Given the description of an element on the screen output the (x, y) to click on. 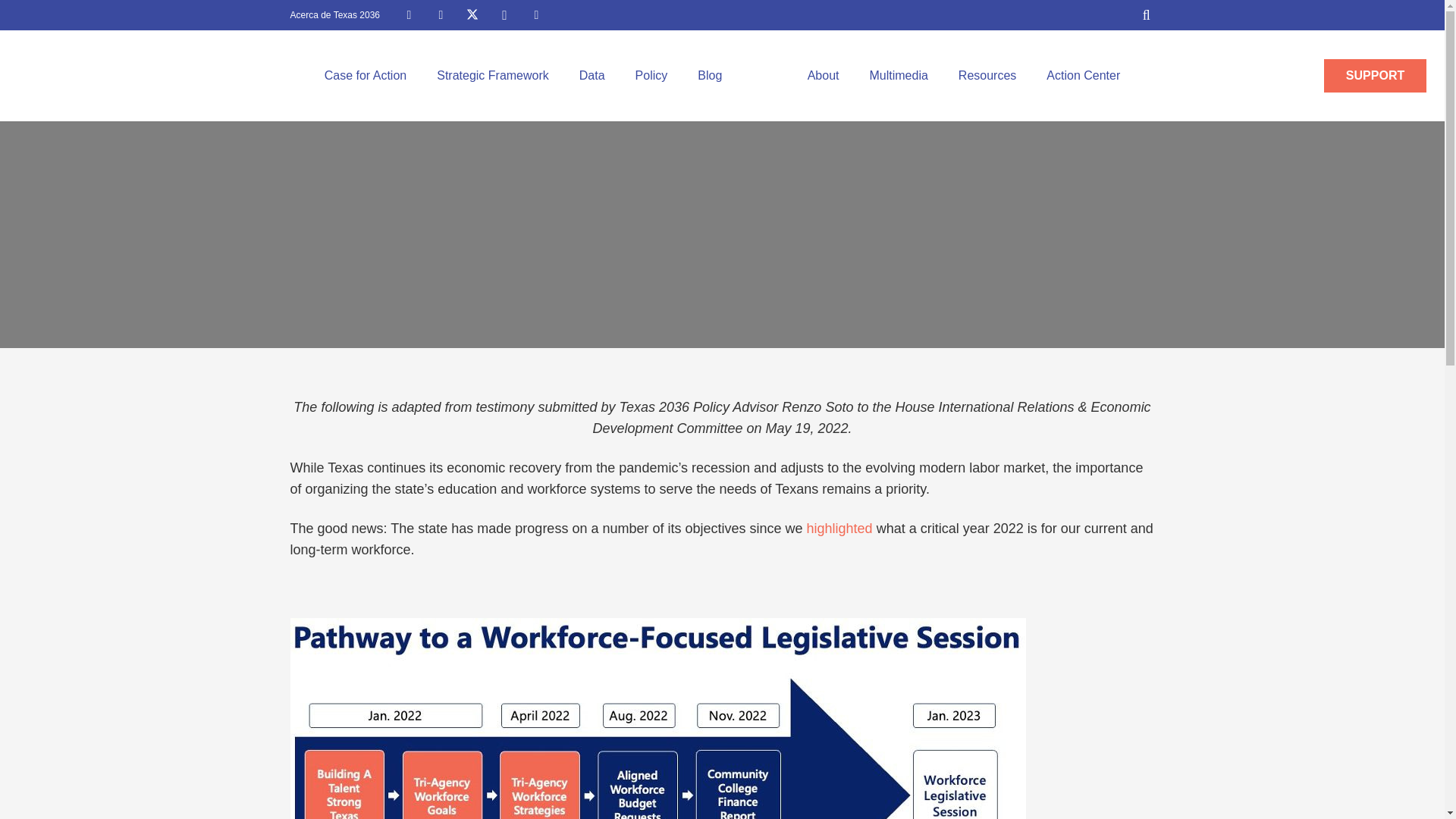
Acerca de Texas 2036 (334, 14)
Case for Action (365, 75)
Instagram (504, 15)
Action Center (1082, 75)
Strategic Framework (493, 75)
YouTube (536, 15)
Multimedia (897, 75)
Facebook (408, 15)
Resources (986, 75)
SUPPORT (1374, 75)
